Given the description of an element on the screen output the (x, y) to click on. 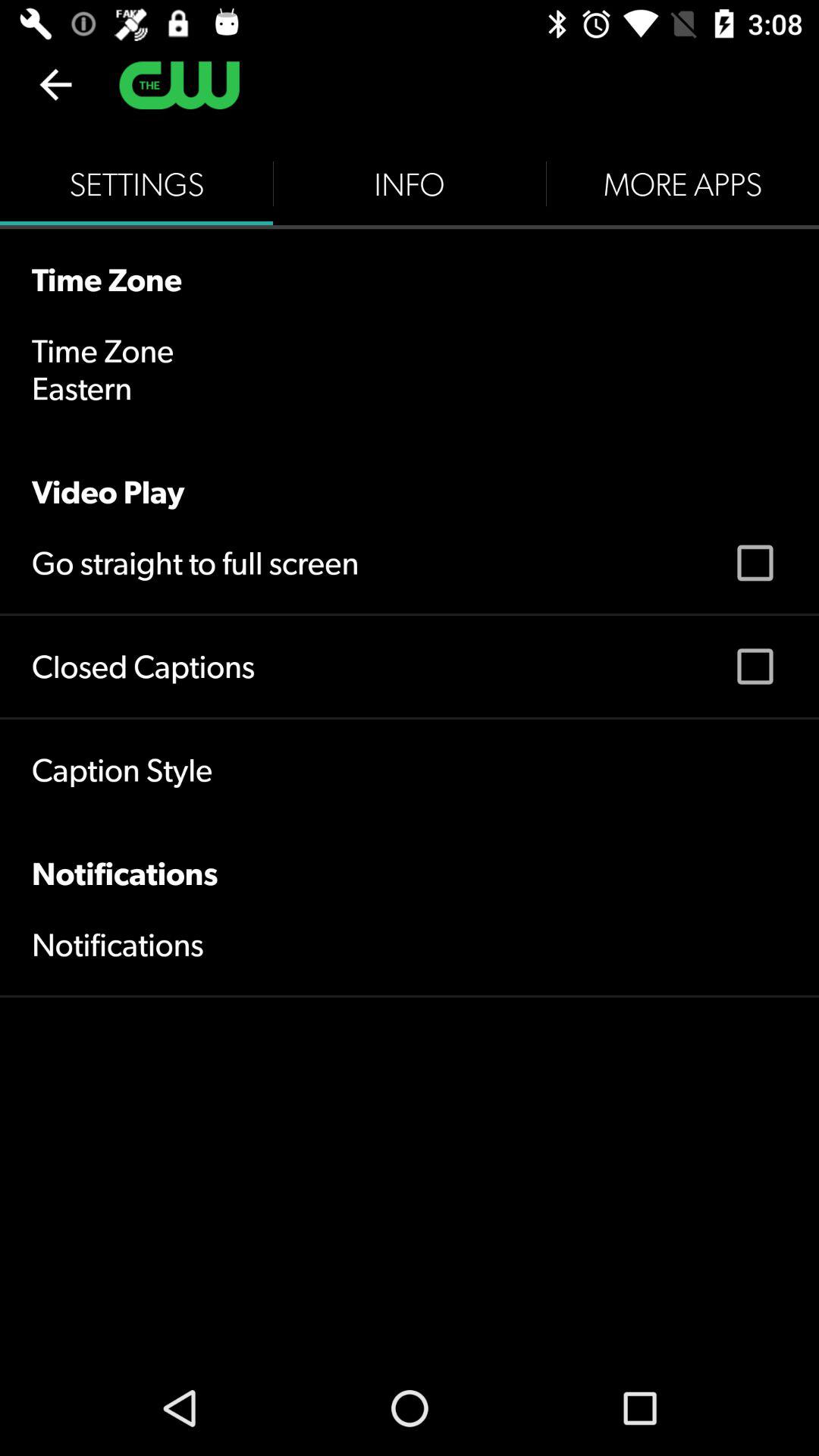
press the icon below eastern icon (409, 475)
